Given the description of an element on the screen output the (x, y) to click on. 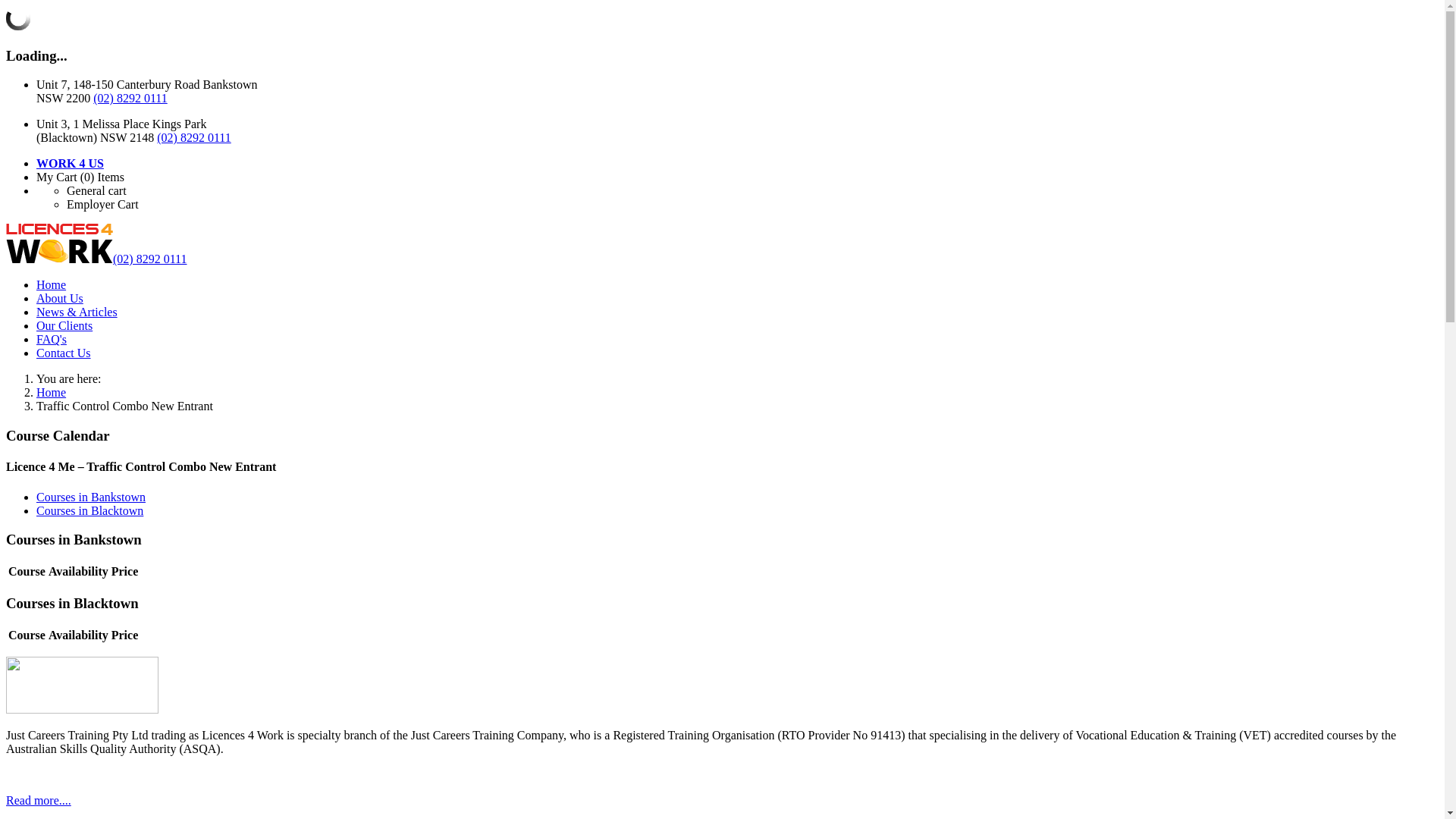
Employer Cart Element type: text (102, 203)
Courses in Bankstown Element type: text (90, 496)
(02) 8292 0111 Element type: text (193, 137)
FAQ's Element type: text (51, 338)
Home Element type: text (50, 284)
Read more.... Element type: text (38, 799)
General cart Element type: text (96, 190)
About Us Element type: text (59, 297)
My Cart (0) Items Element type: text (80, 176)
Our Clients Element type: text (64, 325)
Home Element type: text (50, 391)
(02) 8292 0111 Element type: text (149, 258)
WORK 4 US Element type: text (69, 162)
Contact Us Element type: text (63, 352)
News & Articles Element type: text (76, 311)
(02) 8292 0111 Element type: text (129, 97)
Courses in Blacktown Element type: text (89, 510)
